Given the description of an element on the screen output the (x, y) to click on. 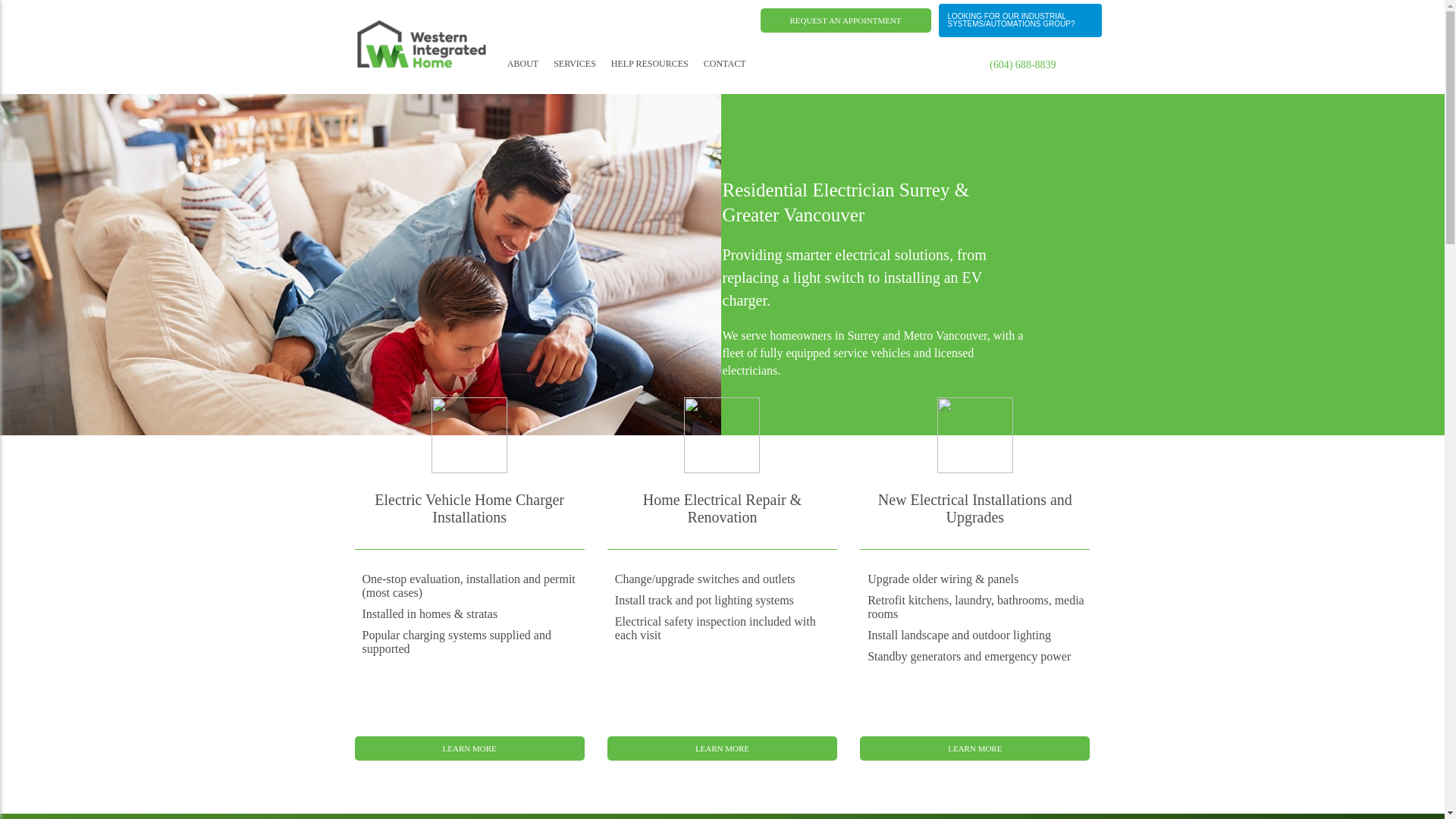
HELP RESOURCES (649, 62)
CONTACT (724, 62)
SERVICES (574, 62)
ABOUT (522, 62)
REQUEST AN APPOINTMENT (845, 20)
LEARN MORE (470, 748)
LEARN MORE (722, 748)
LEARN MORE (974, 748)
